Given the description of an element on the screen output the (x, y) to click on. 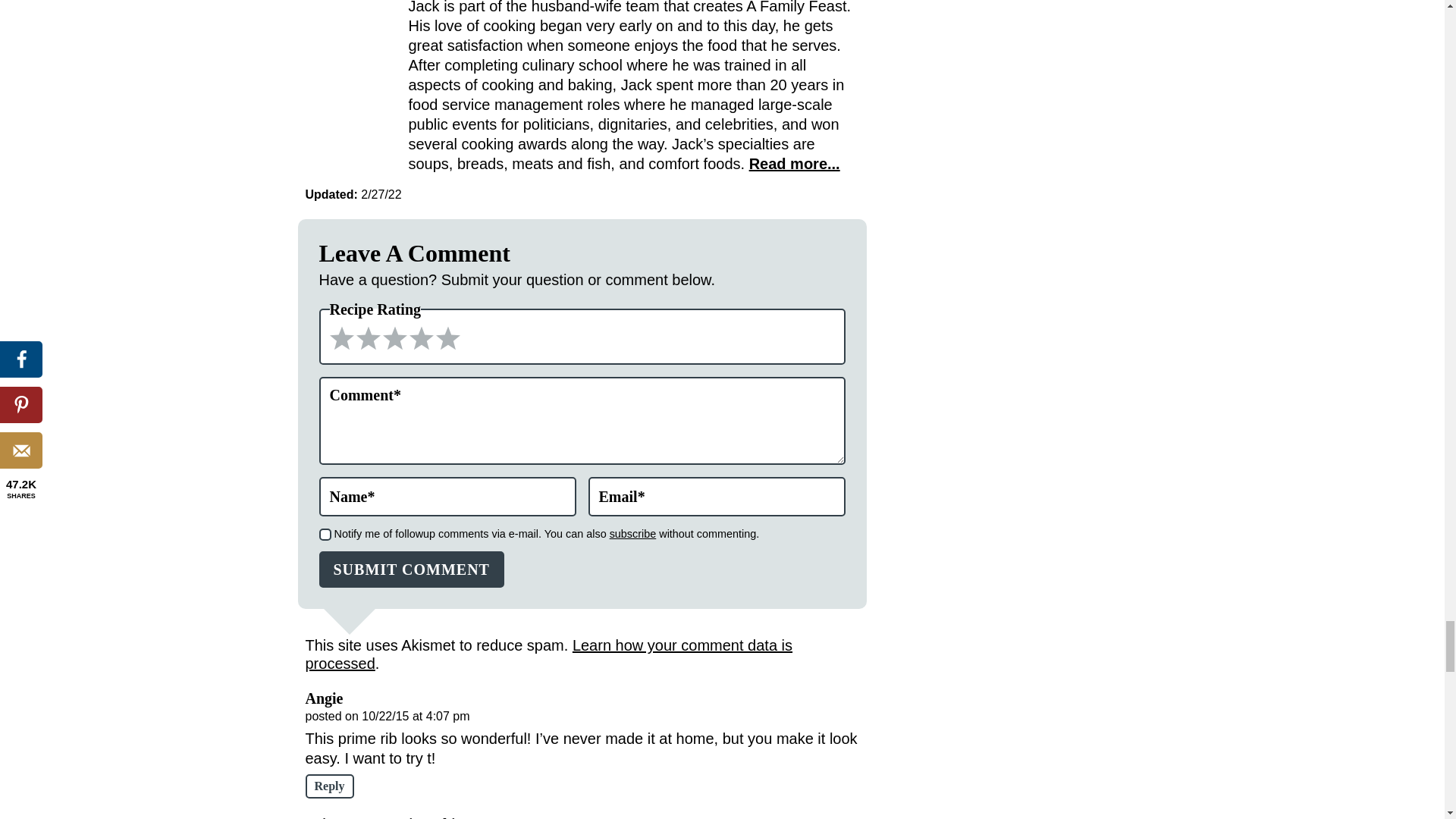
replies (324, 534)
Submit Comment (410, 569)
